Given the description of an element on the screen output the (x, y) to click on. 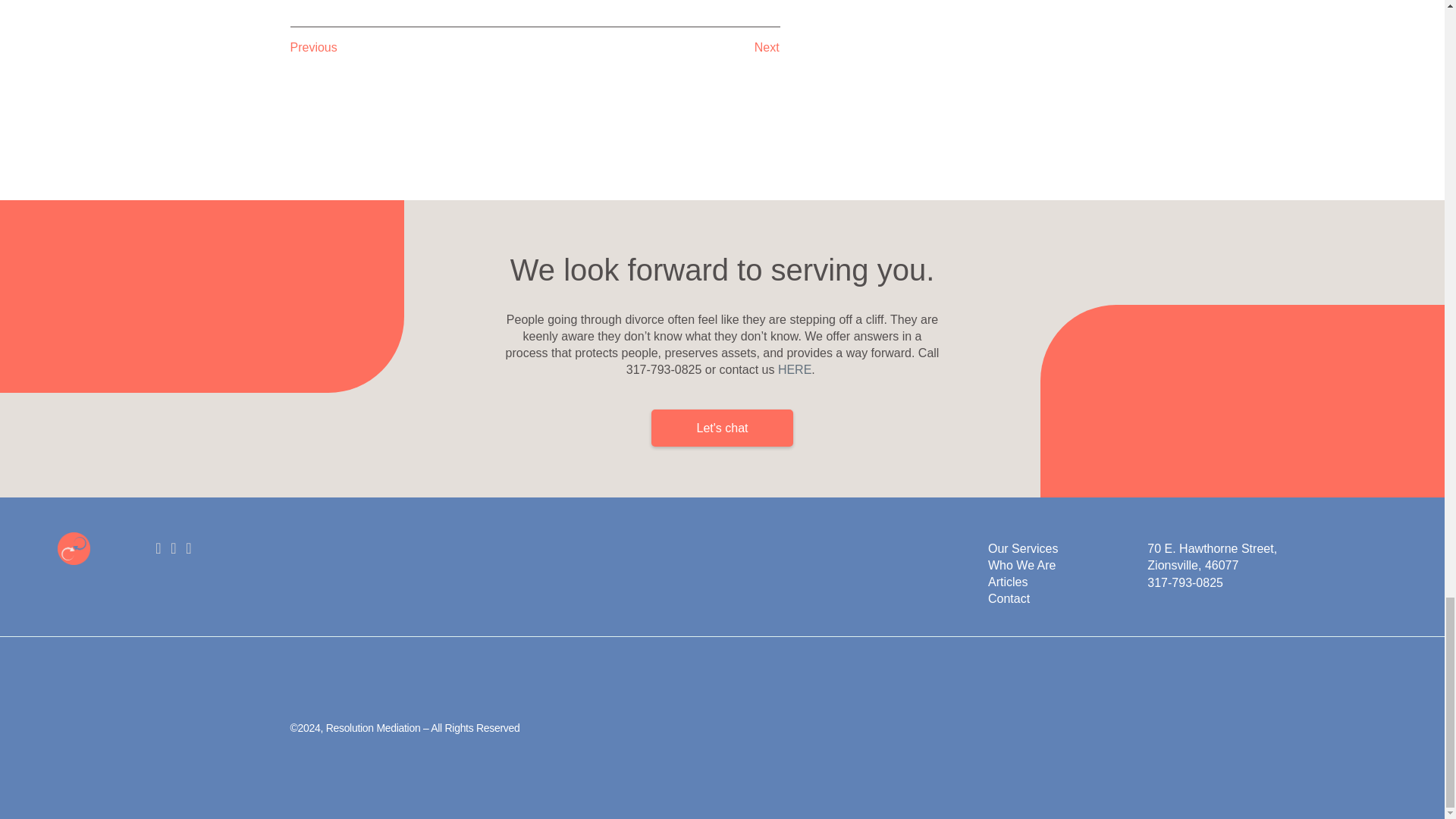
Let's chat (721, 427)
Next (656, 47)
Previous (411, 47)
HERE (793, 369)
